Given the description of an element on the screen output the (x, y) to click on. 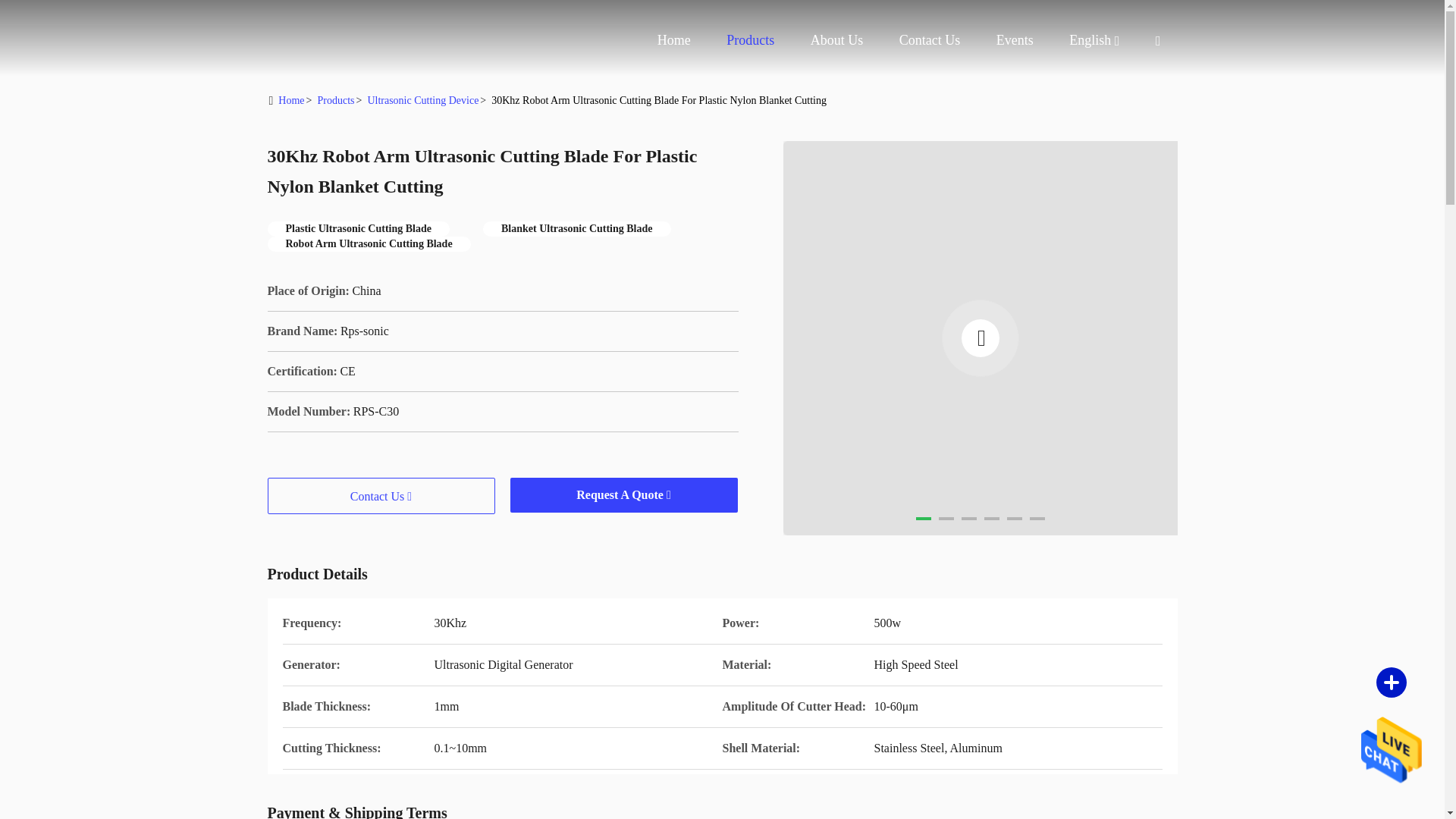
Products (750, 40)
About Us (836, 40)
Contact Us (929, 40)
Products (750, 40)
About Us (836, 40)
Contact Us (929, 40)
